Given the description of an element on the screen output the (x, y) to click on. 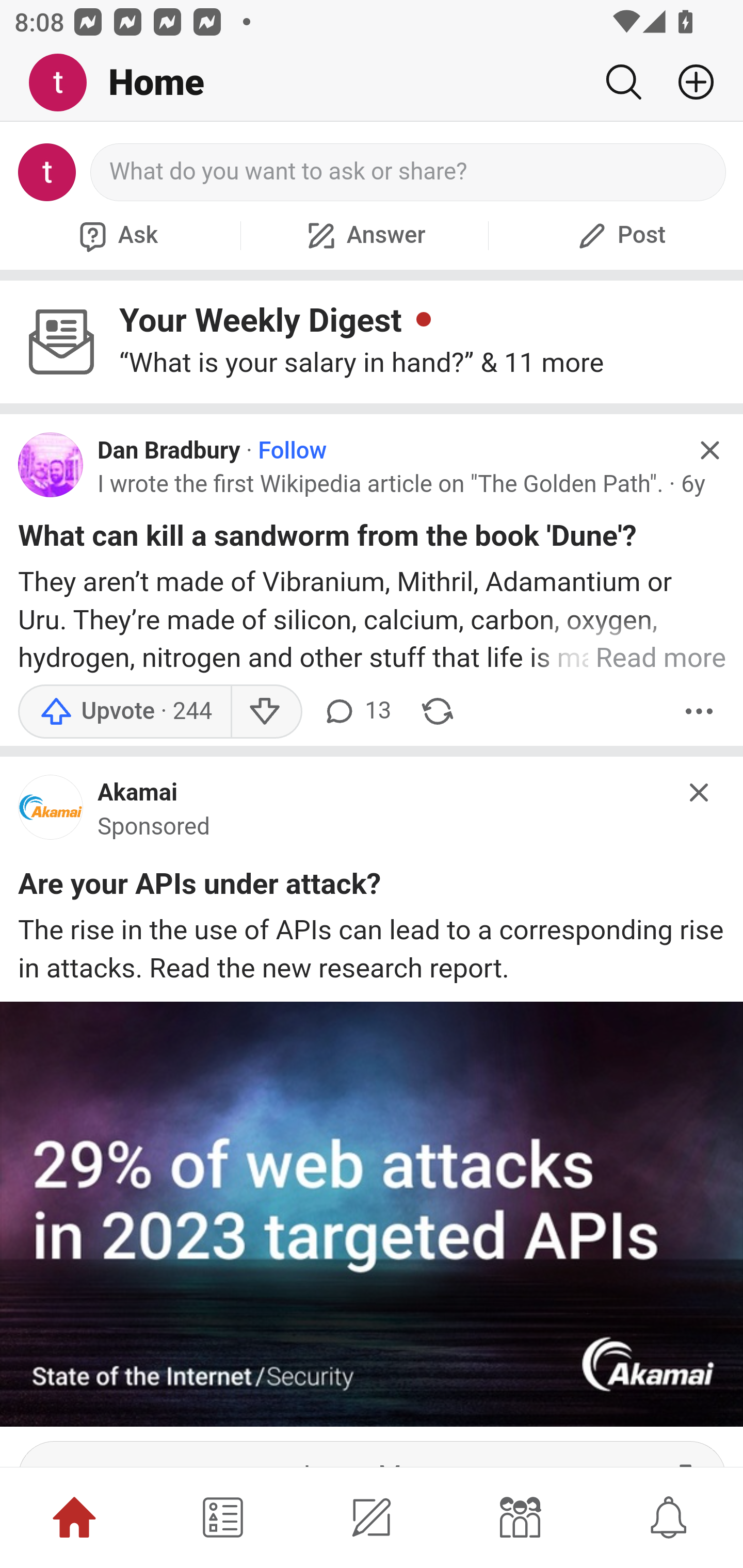
Me Home Search Add (371, 82)
Me (64, 83)
Search (623, 82)
Add (688, 82)
